Given the description of an element on the screen output the (x, y) to click on. 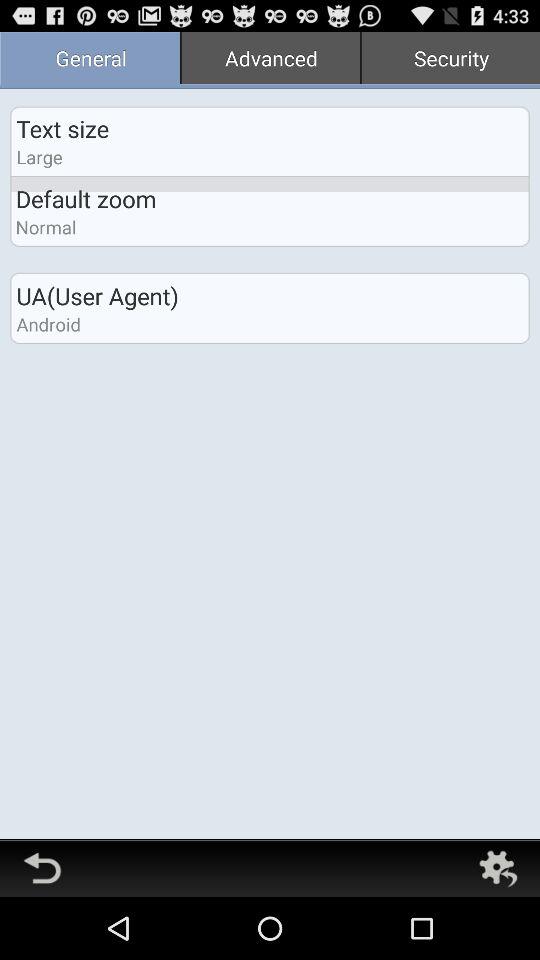
click on the button which is next to the general (269, 60)
click on security on the top right corner of the web page (450, 60)
click on advanced (269, 60)
